Given the description of an element on the screen output the (x, y) to click on. 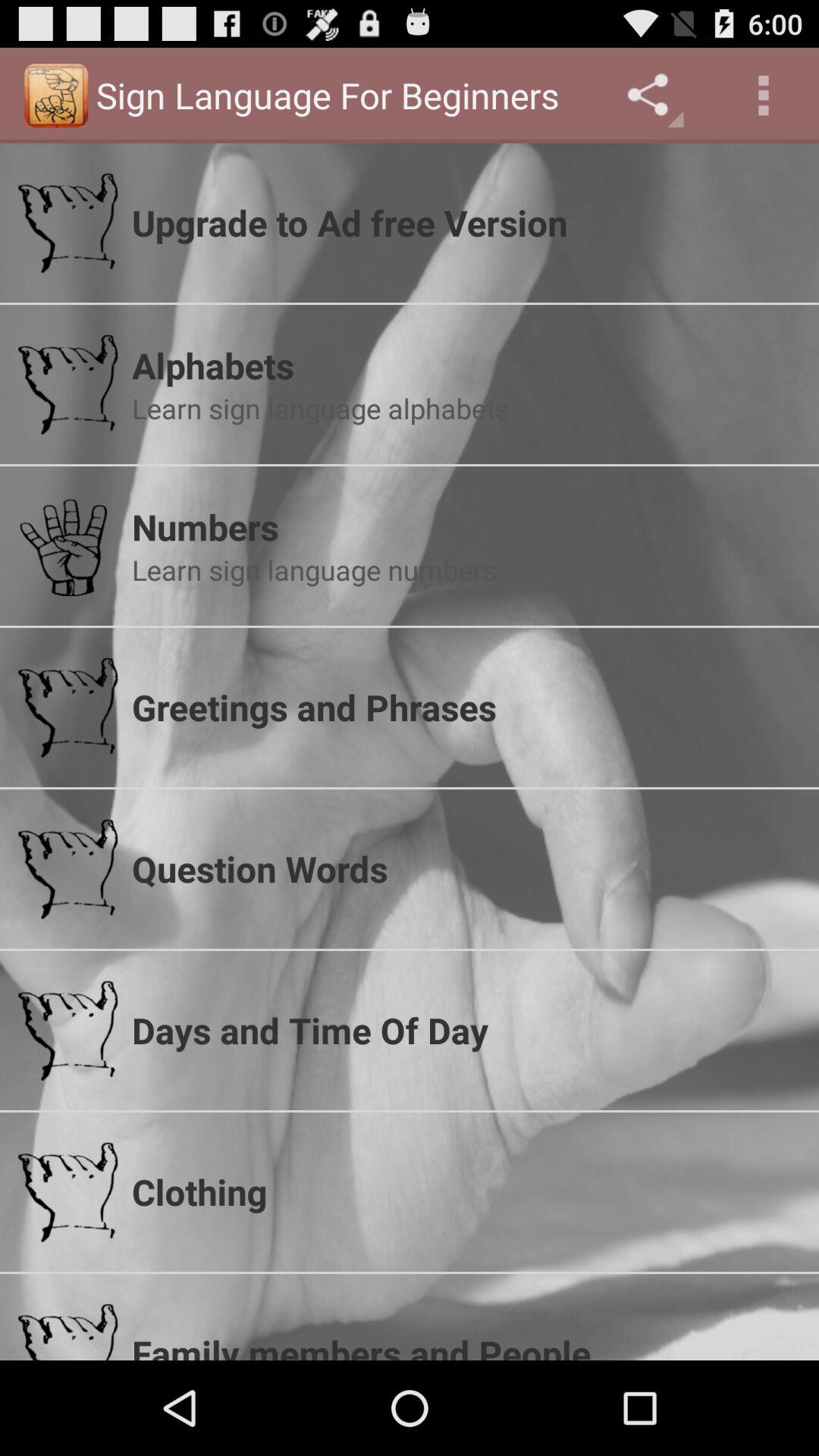
turn off greetings and phrases (465, 707)
